Given the description of an element on the screen output the (x, y) to click on. 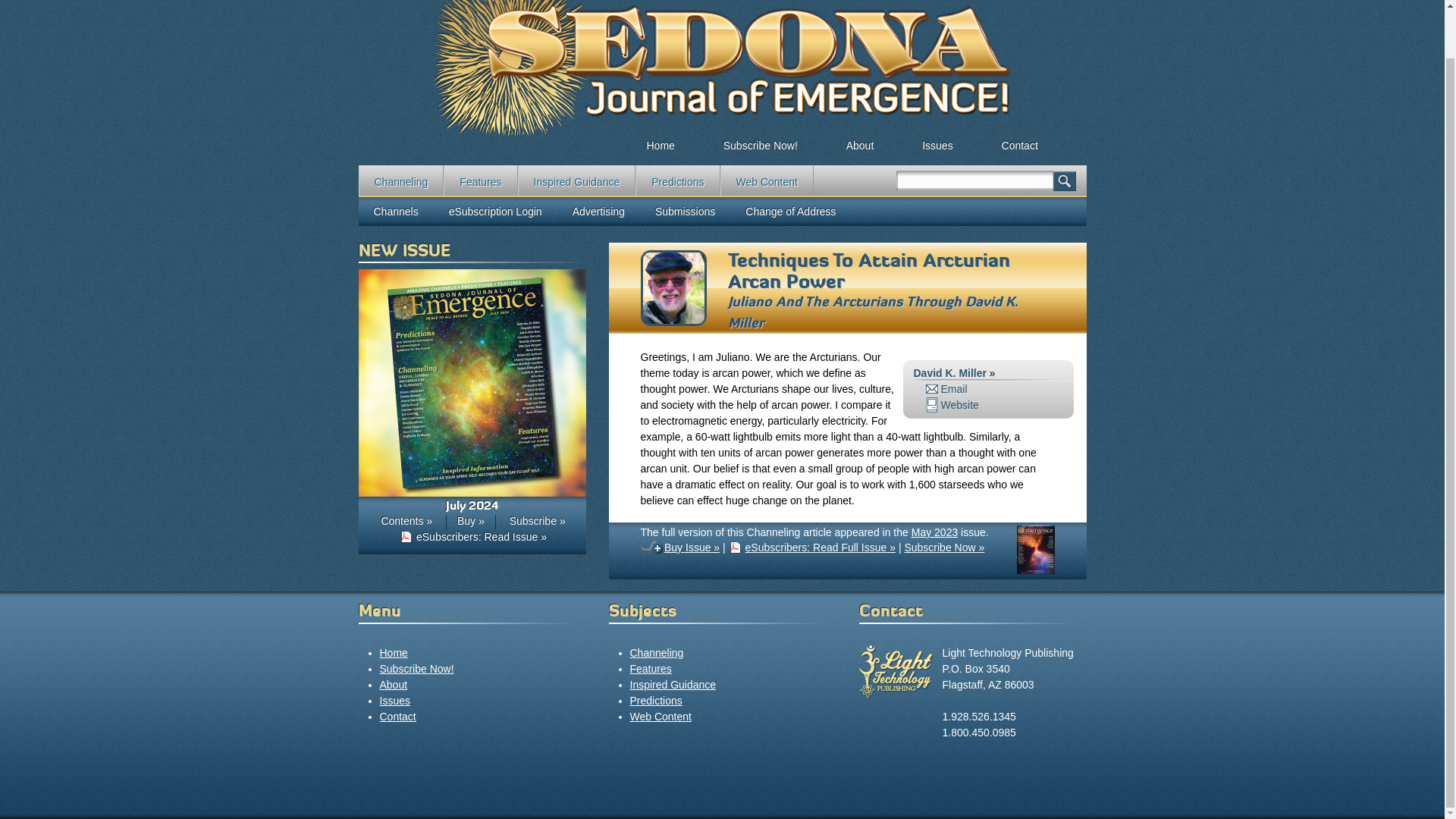
Email (944, 388)
Search (1063, 180)
Search (1063, 180)
David K. Miller (673, 322)
Advertising (598, 211)
Subscribe Now! (415, 668)
Home (660, 140)
Predictions (676, 180)
May 2023 (934, 532)
Back Issues (937, 140)
David K. Miller (948, 372)
eSubscription Login (495, 211)
Website (950, 404)
About (860, 140)
Channeling (401, 180)
